Given the description of an element on the screen output the (x, y) to click on. 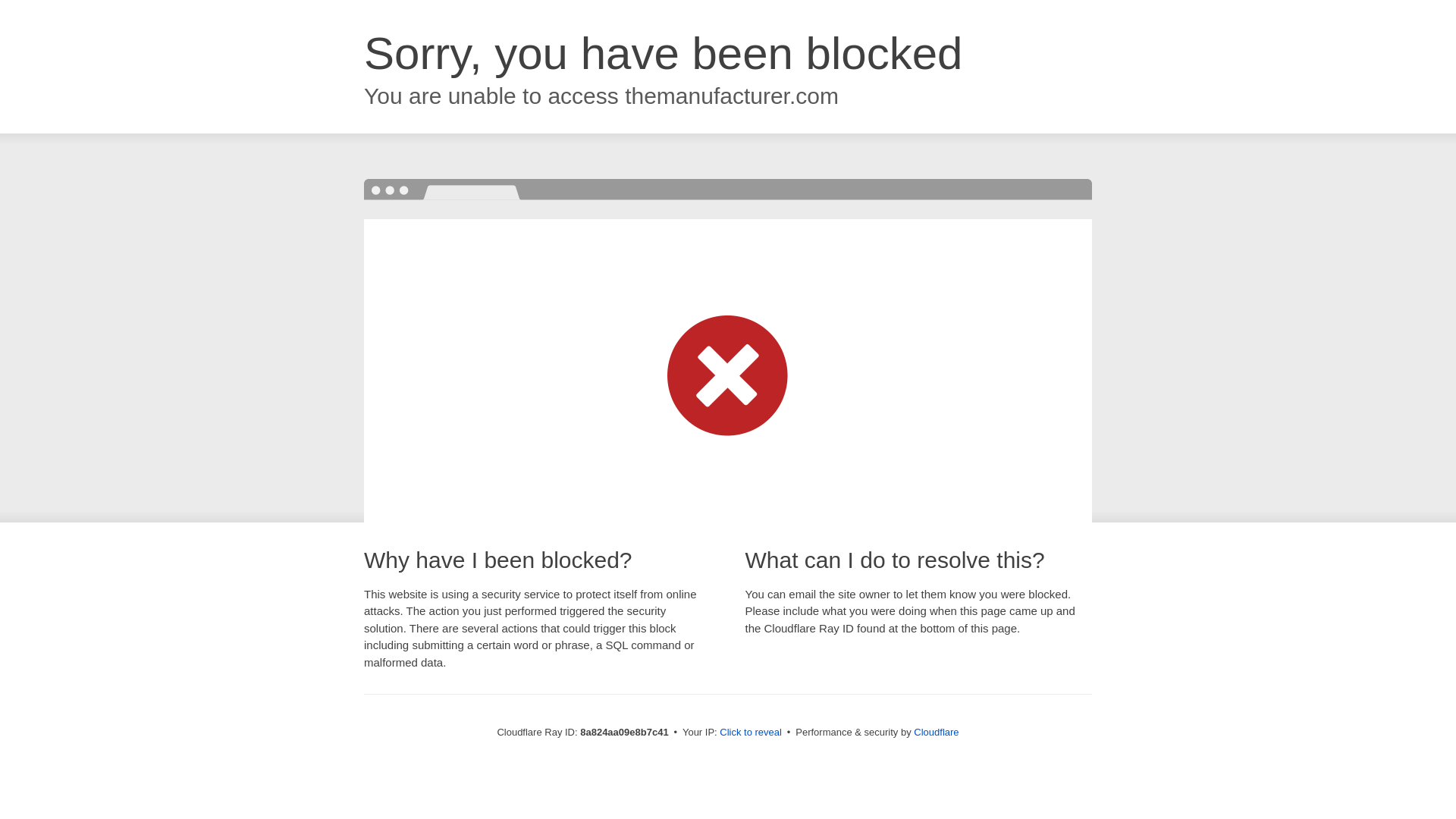
Cloudflare (936, 731)
Click to reveal (750, 732)
